Given the description of an element on the screen output the (x, y) to click on. 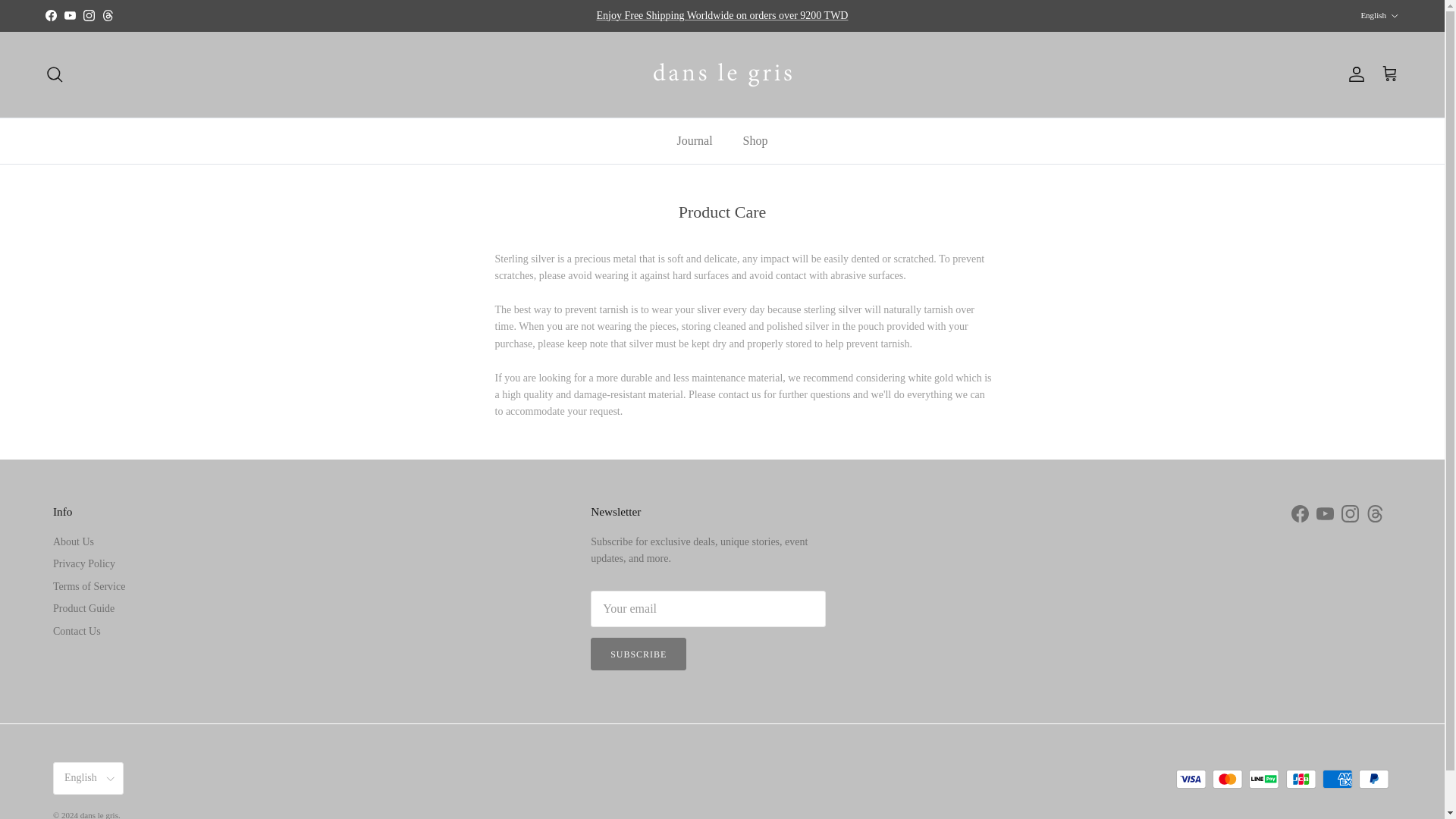
dans le gris on Facebook (50, 15)
Instagram (88, 15)
English (1379, 15)
dans le gris on Instagram (1349, 513)
JCB (1300, 778)
SUBSCRIBE (638, 654)
Search (54, 74)
Visa (1190, 778)
PayPal (1373, 778)
About Us (73, 541)
